Given the description of an element on the screen output the (x, y) to click on. 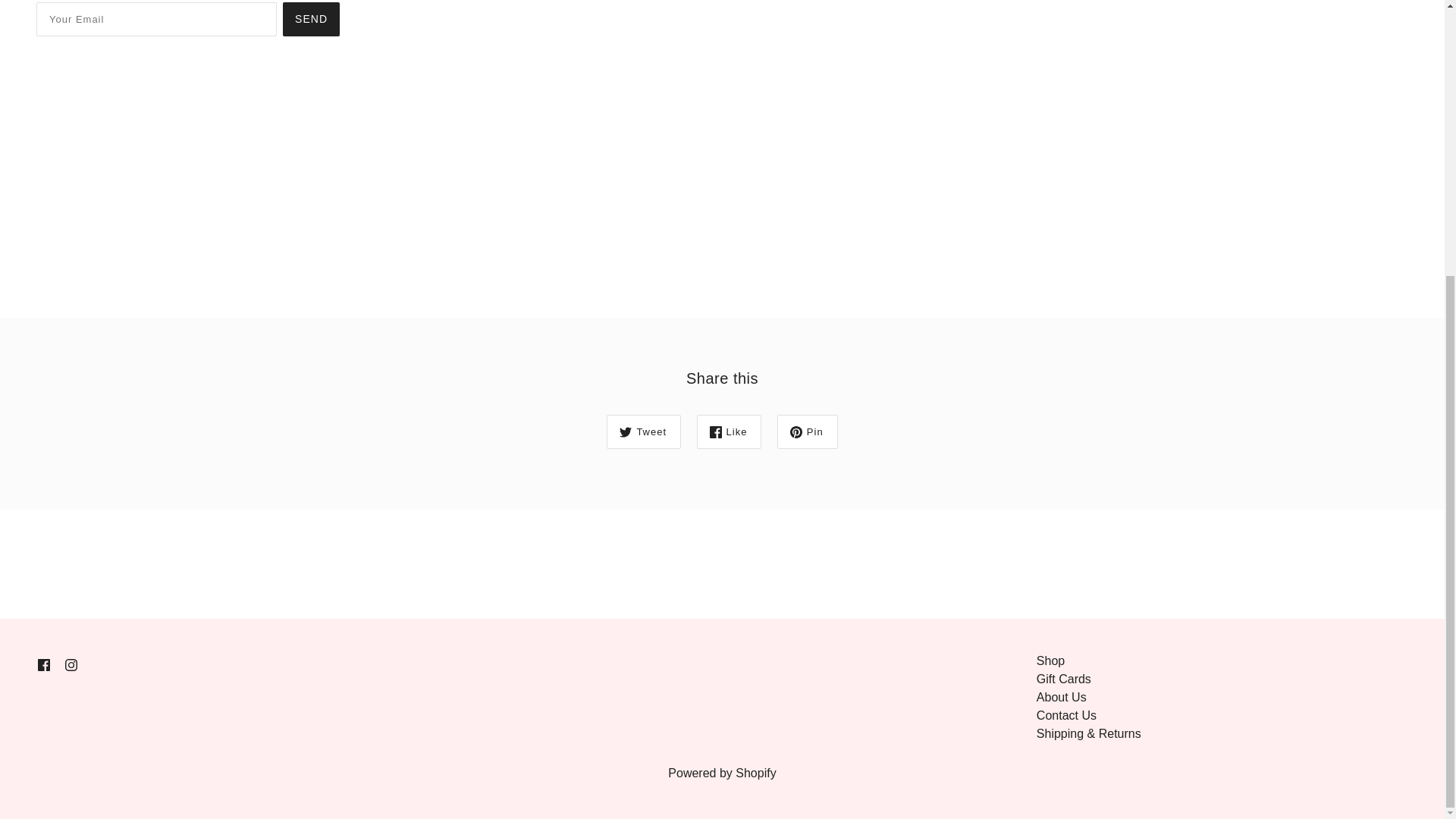
Shop (1050, 660)
Gift Cards (1063, 678)
About Us (1061, 697)
Contact Us (1066, 715)
